Given the description of an element on the screen output the (x, y) to click on. 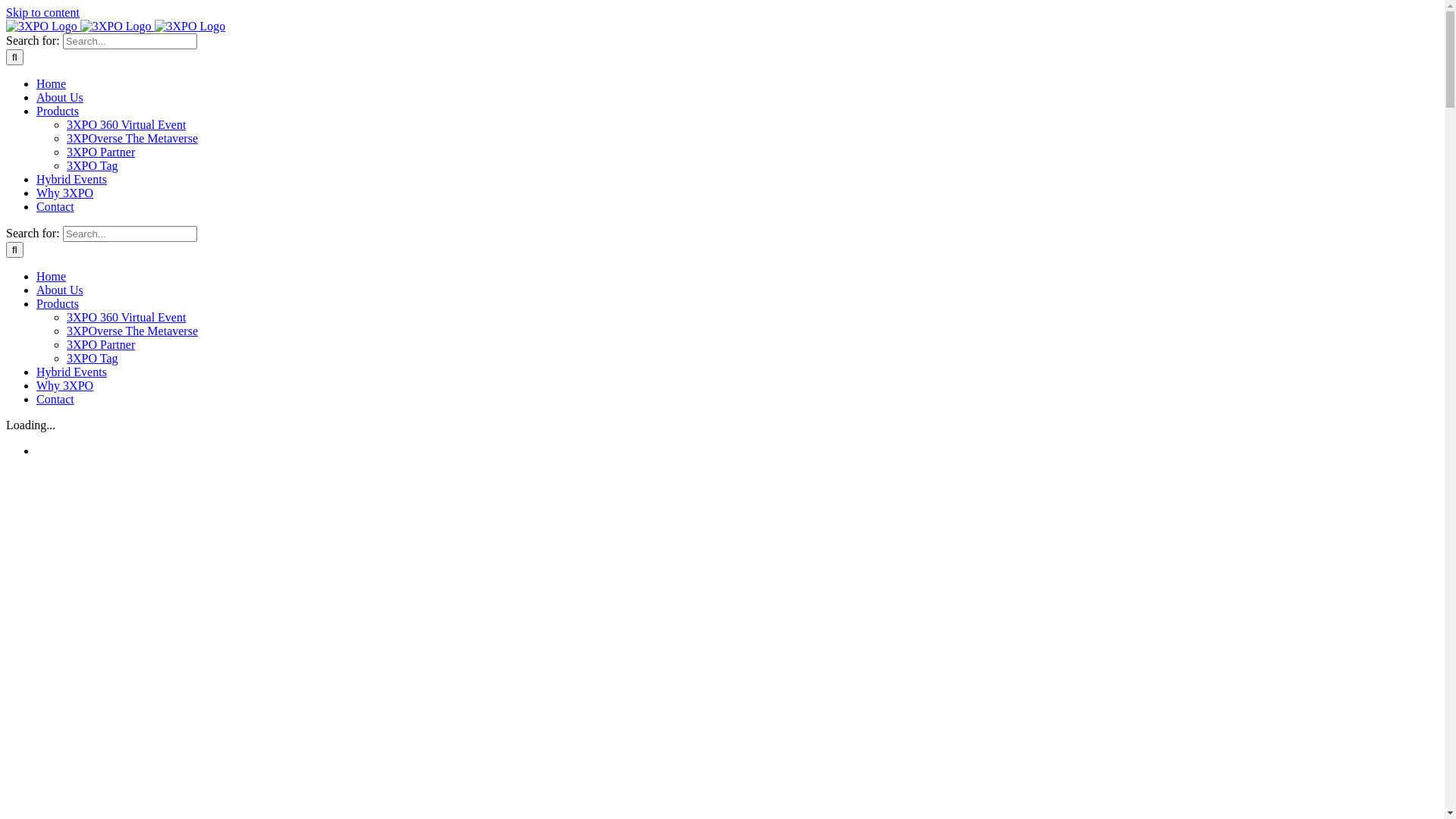
3XPOverse The Metaverse Element type: text (131, 330)
Why 3XPO Element type: text (64, 385)
Contact Element type: text (55, 206)
Home Element type: text (50, 275)
3XPO Partner Element type: text (100, 344)
3XPO Tag Element type: text (91, 165)
About Us Element type: text (59, 97)
3XPOverse The Metaverse Element type: text (131, 137)
Products Element type: text (57, 303)
Hybrid Events Element type: text (71, 371)
3XPO Partner Element type: text (100, 151)
Hybrid Events Element type: text (71, 178)
Products Element type: text (57, 110)
About Us Element type: text (59, 289)
3XPO 360 Virtual Event Element type: text (125, 124)
Home Element type: text (50, 83)
3XPO 360 Virtual Event Element type: text (125, 316)
Skip to content Element type: text (42, 12)
3XPO Tag Element type: text (91, 357)
Contact Element type: text (55, 398)
Why 3XPO Element type: text (64, 192)
